Given the description of an element on the screen output the (x, y) to click on. 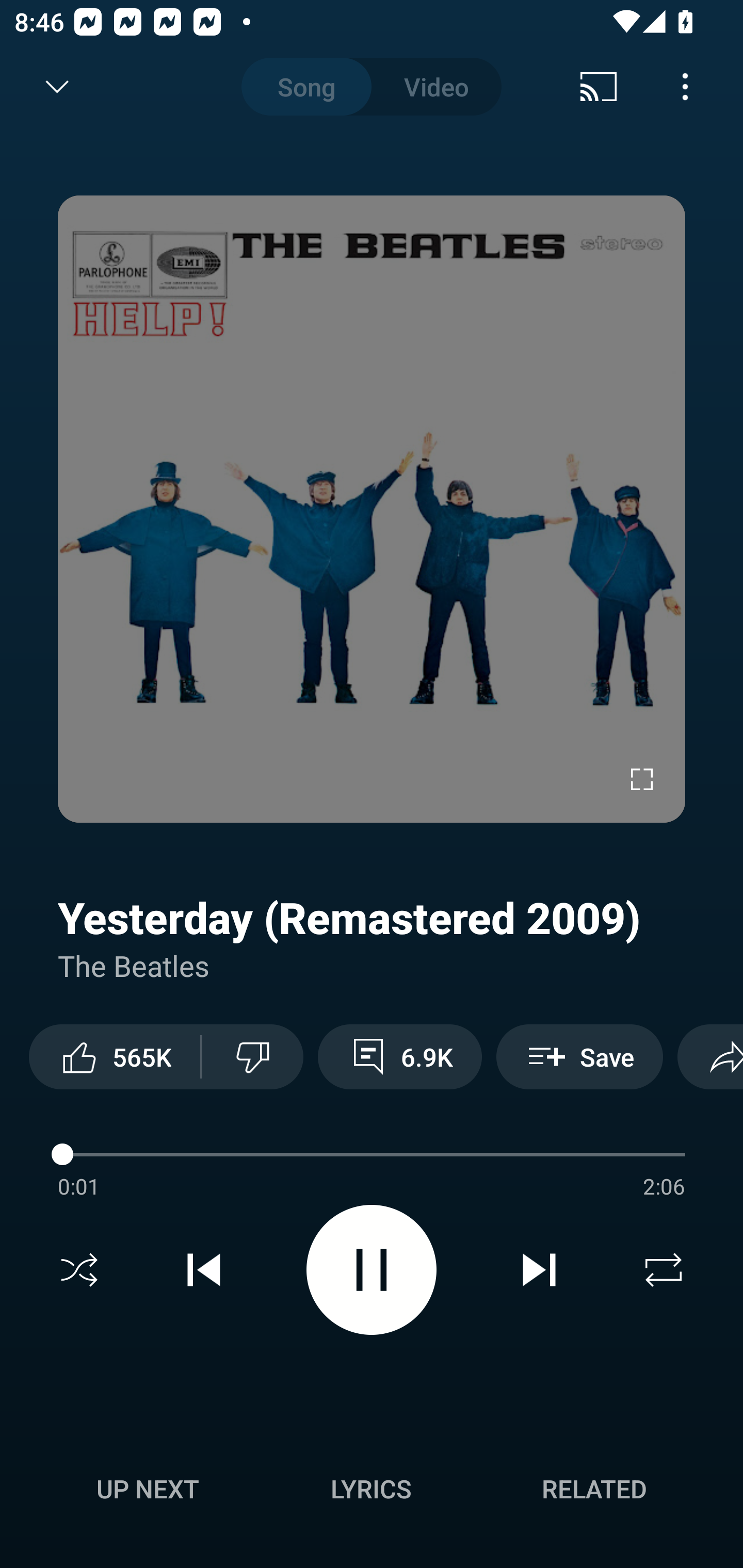
Search back (43, 86)
Cast. Disconnected (598, 86)
Menu (684, 86)
Enter fullscreen (641, 779)
Dislike (252, 1056)
6.9K View 6,981 comments (400, 1056)
Save Save to playlist (579, 1056)
Share (710, 1056)
Songs More More (371, 1147)
Pause video (371, 1269)
Shuffle off (79, 1269)
Previous track (203, 1269)
Next track (538, 1269)
Repeat off (663, 1269)
Up next UP NEXT Lyrics LYRICS Related RELATED (371, 1491)
Lyrics LYRICS (370, 1488)
Related RELATED (594, 1488)
